Given the description of an element on the screen output the (x, y) to click on. 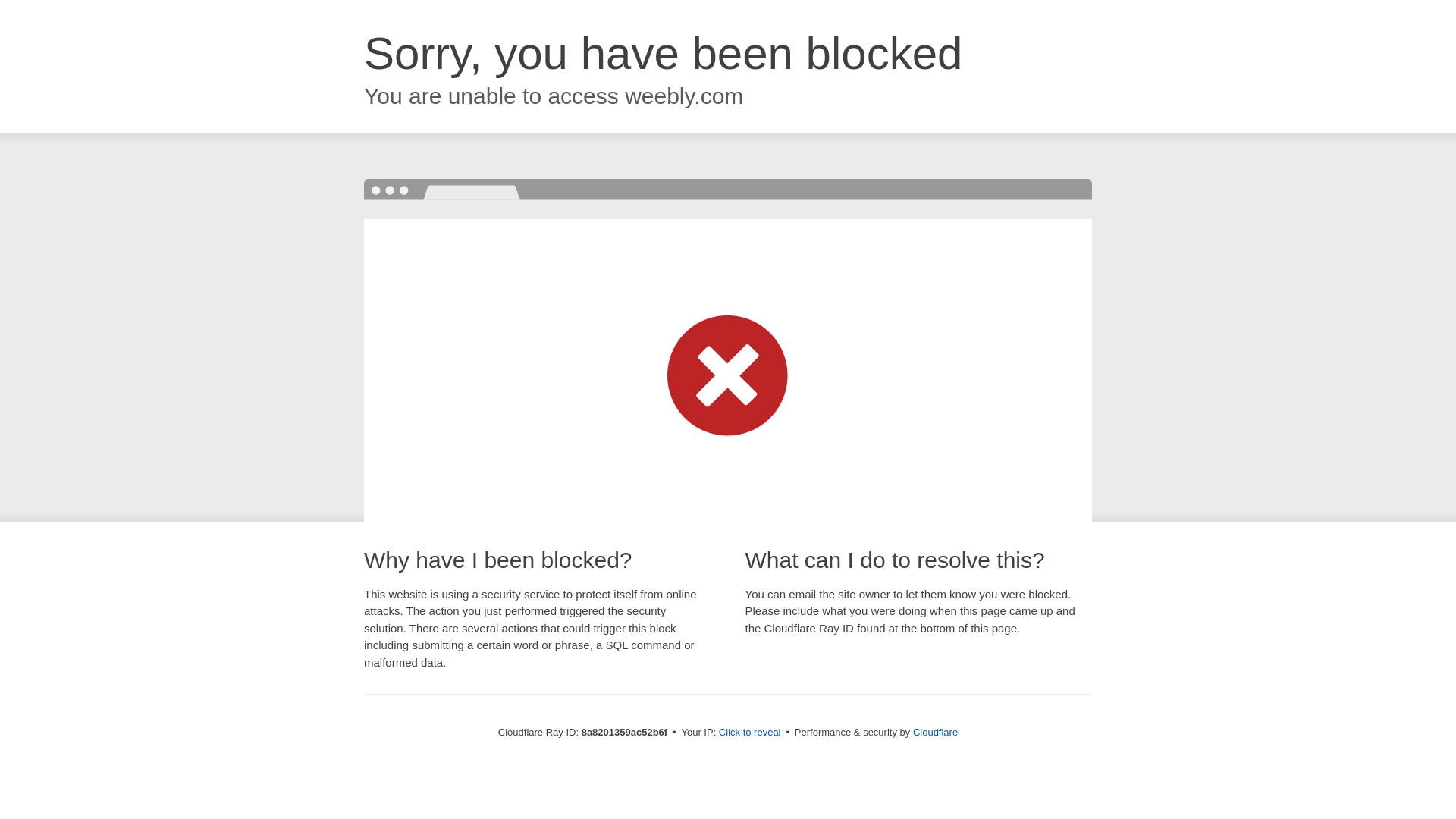
Cloudflare (935, 731)
Click to reveal (749, 732)
